Given the description of an element on the screen output the (x, y) to click on. 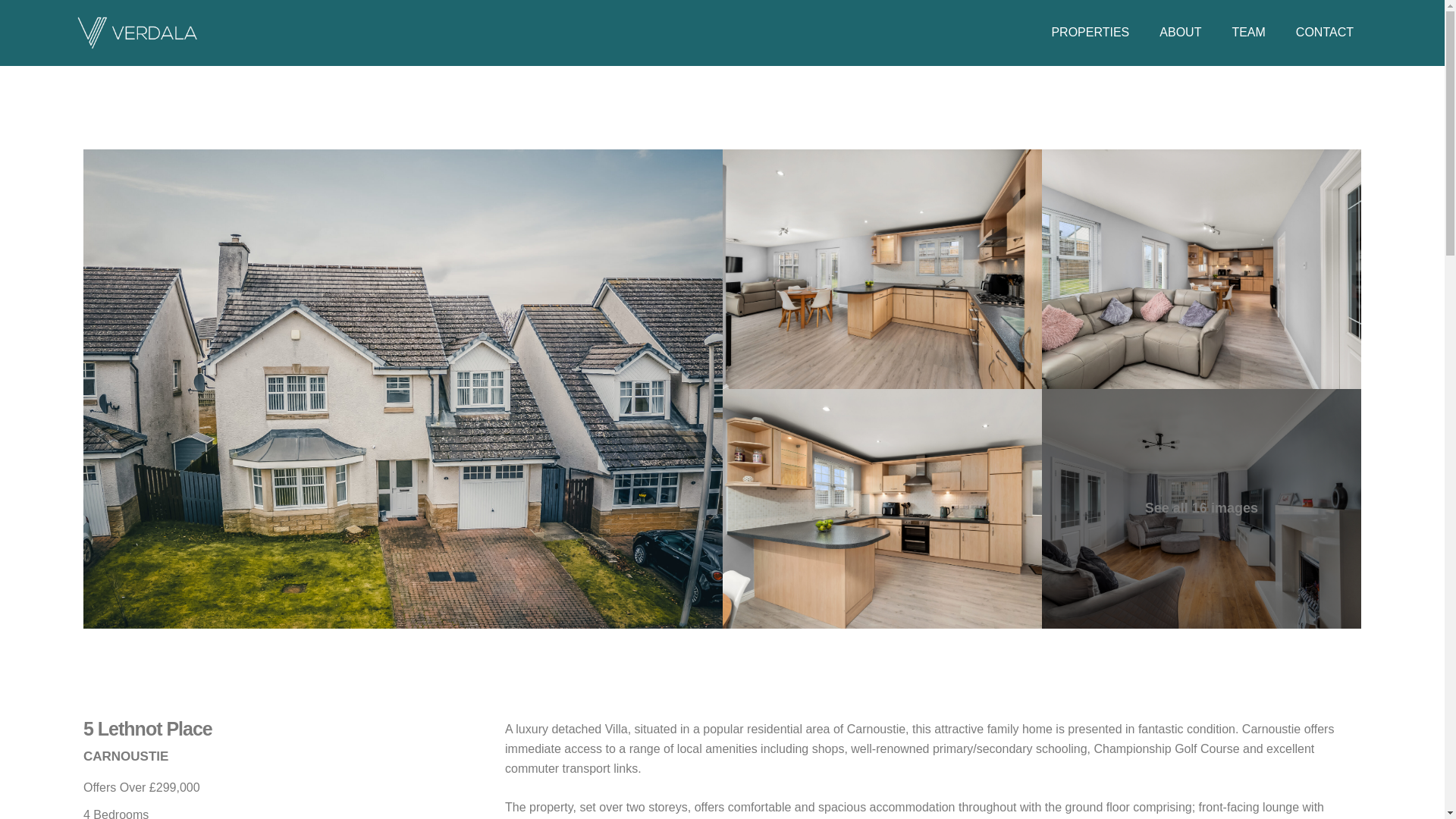
CONTACT (1324, 32)
See all 16 images (1201, 508)
TEAM (1247, 32)
PROPERTIES (1089, 32)
ABOUT (1179, 32)
